Given the description of an element on the screen output the (x, y) to click on. 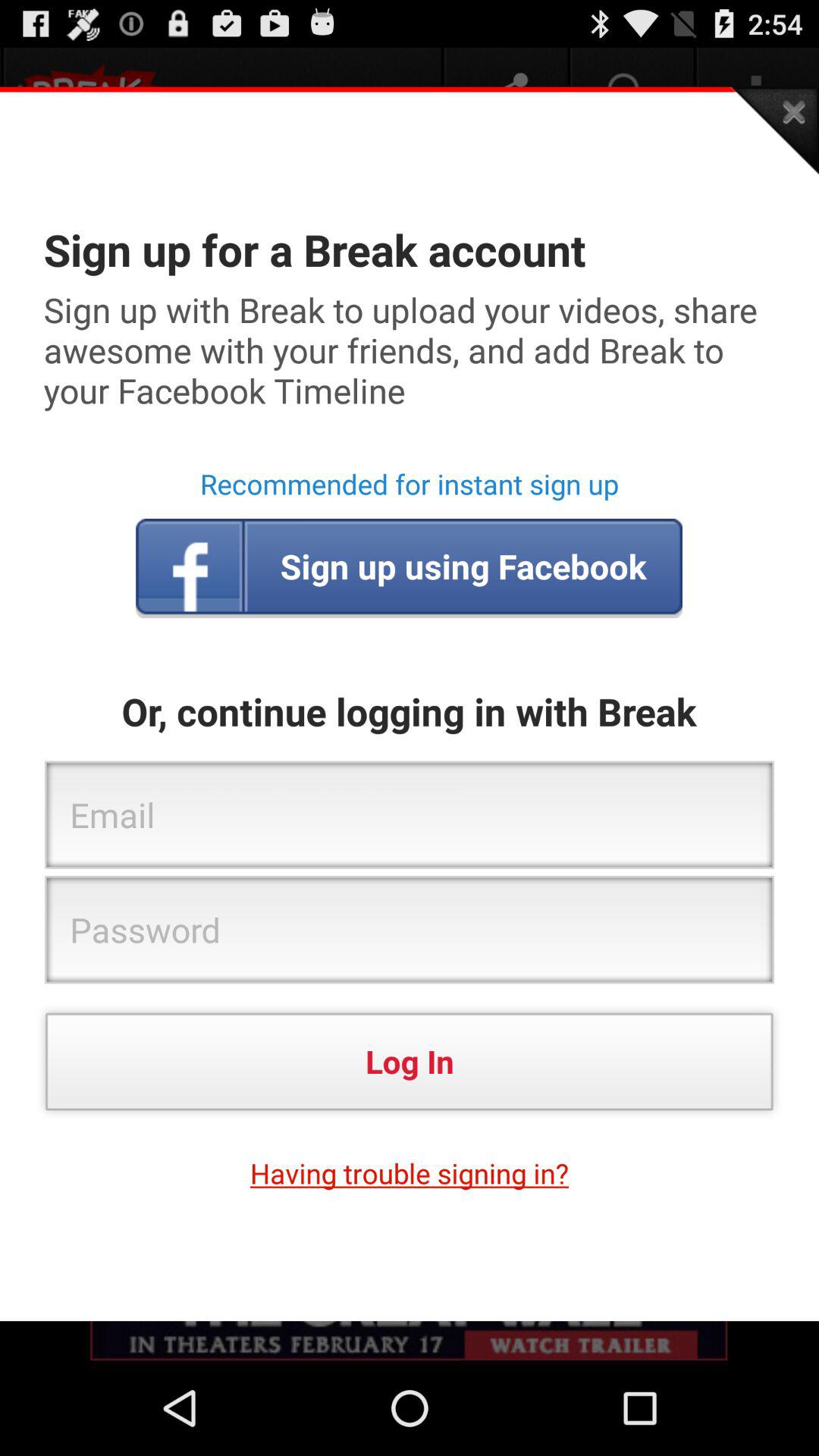
tap item at the top right corner (774, 130)
